Given the description of an element on the screen output the (x, y) to click on. 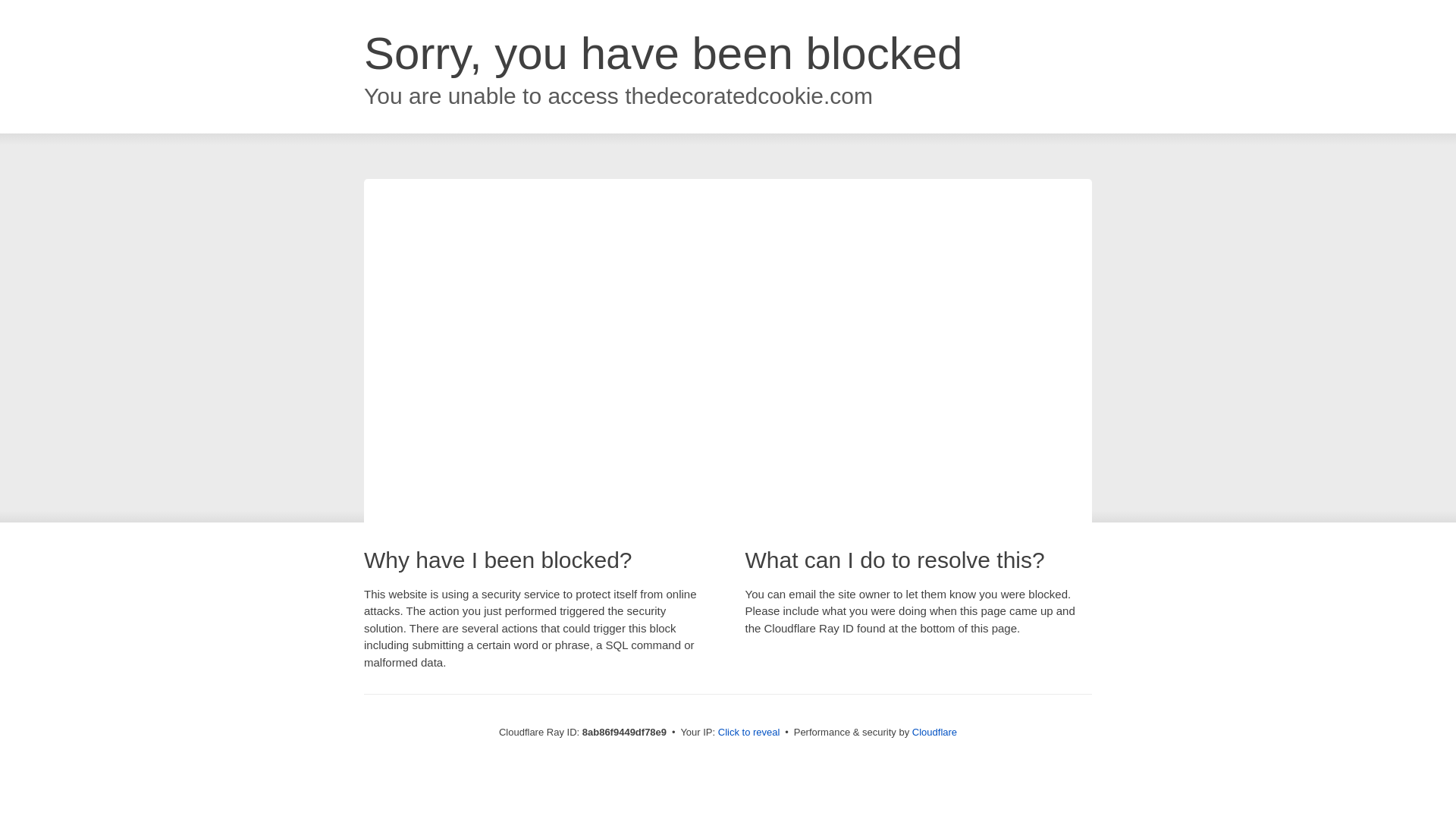
Click to reveal (748, 732)
Cloudflare (934, 731)
